Given the description of an element on the screen output the (x, y) to click on. 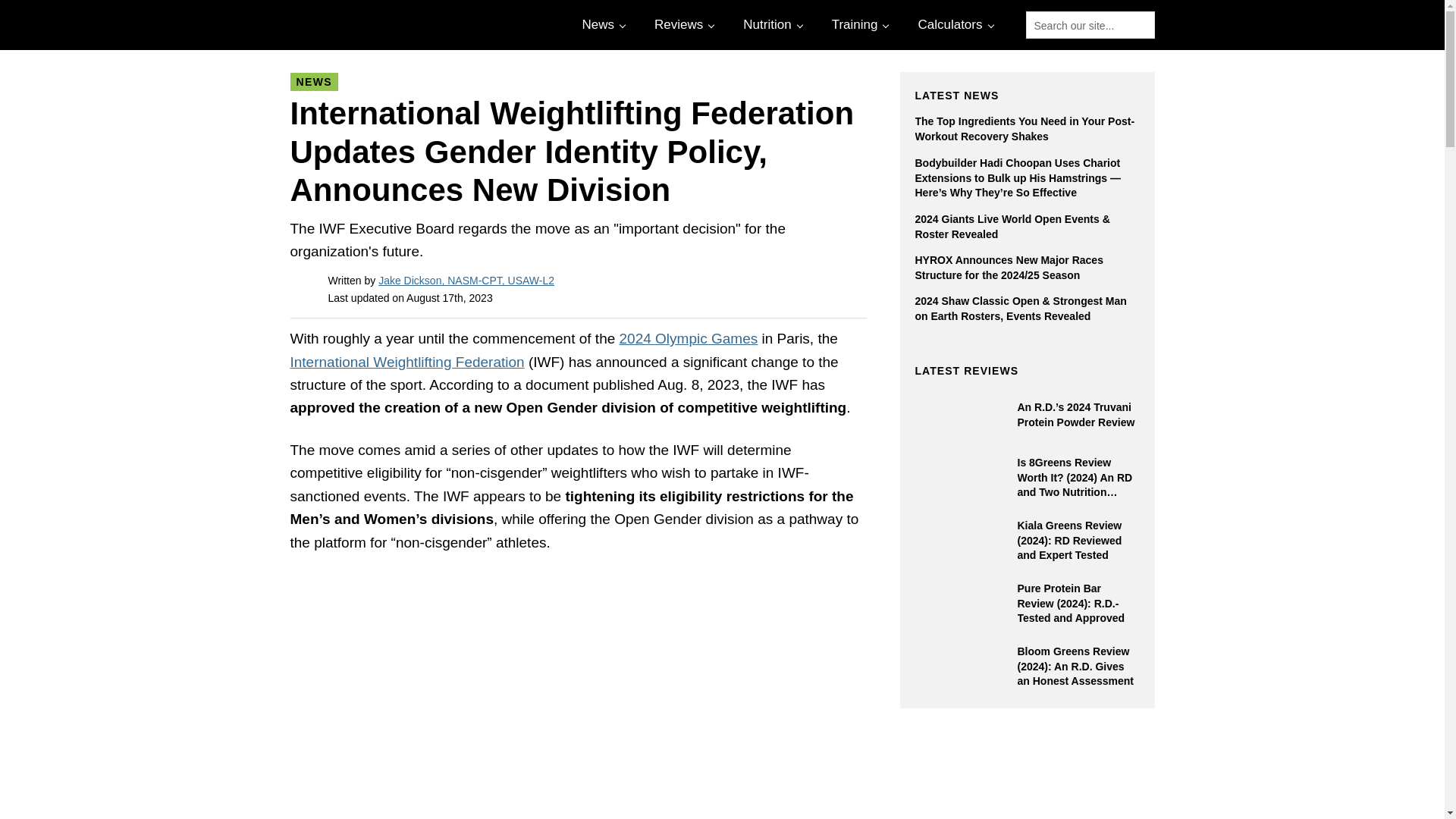
News (602, 24)
Reviews (682, 24)
